Given the description of an element on the screen output the (x, y) to click on. 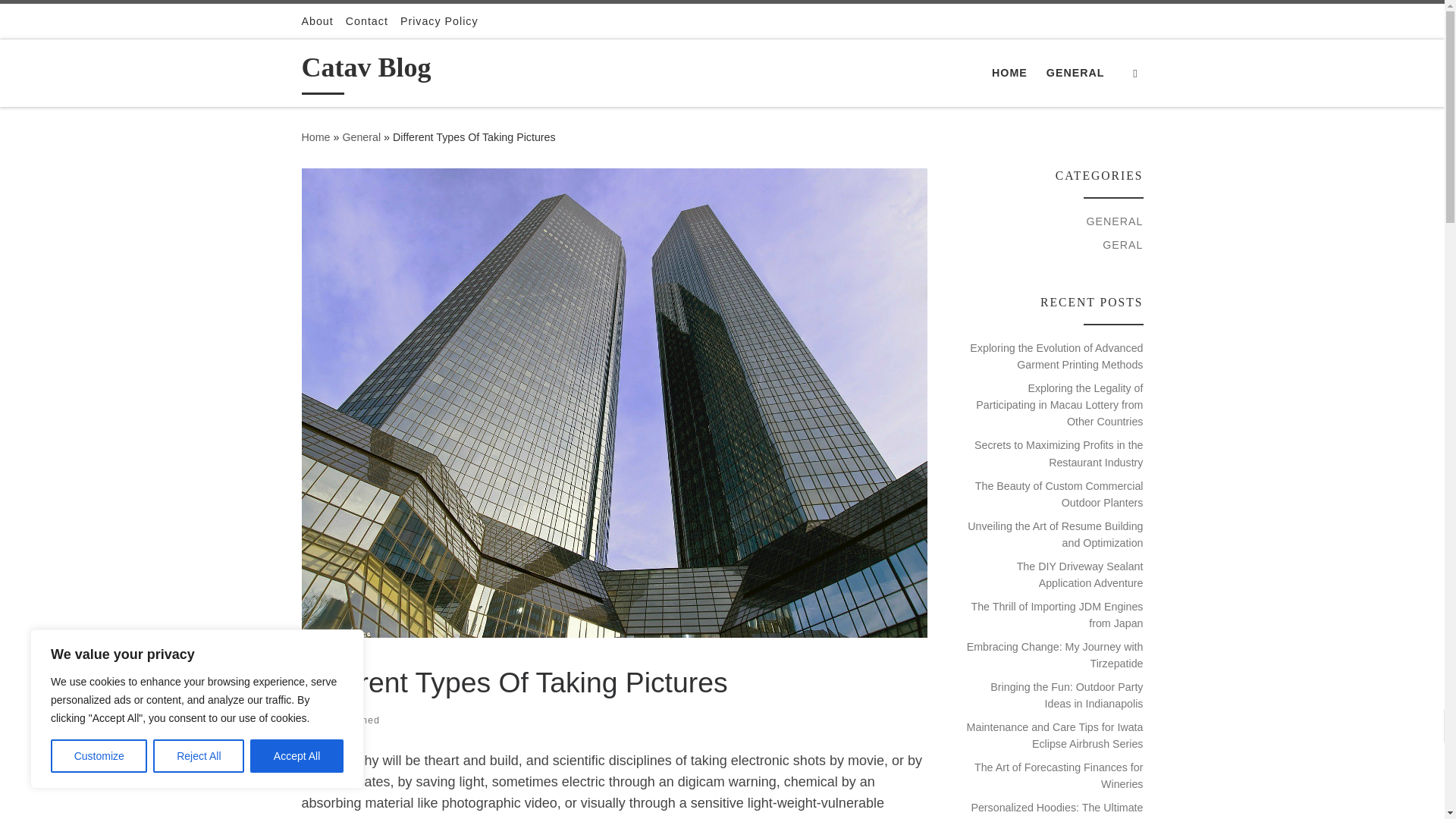
Home (315, 137)
Catav Blog (315, 137)
General (361, 137)
GENERAL (1075, 72)
View all posts in General (329, 654)
Customize (98, 756)
General (361, 137)
Accept All (296, 756)
GENERAL (329, 654)
Catav Blog (365, 70)
